Given the description of an element on the screen output the (x, y) to click on. 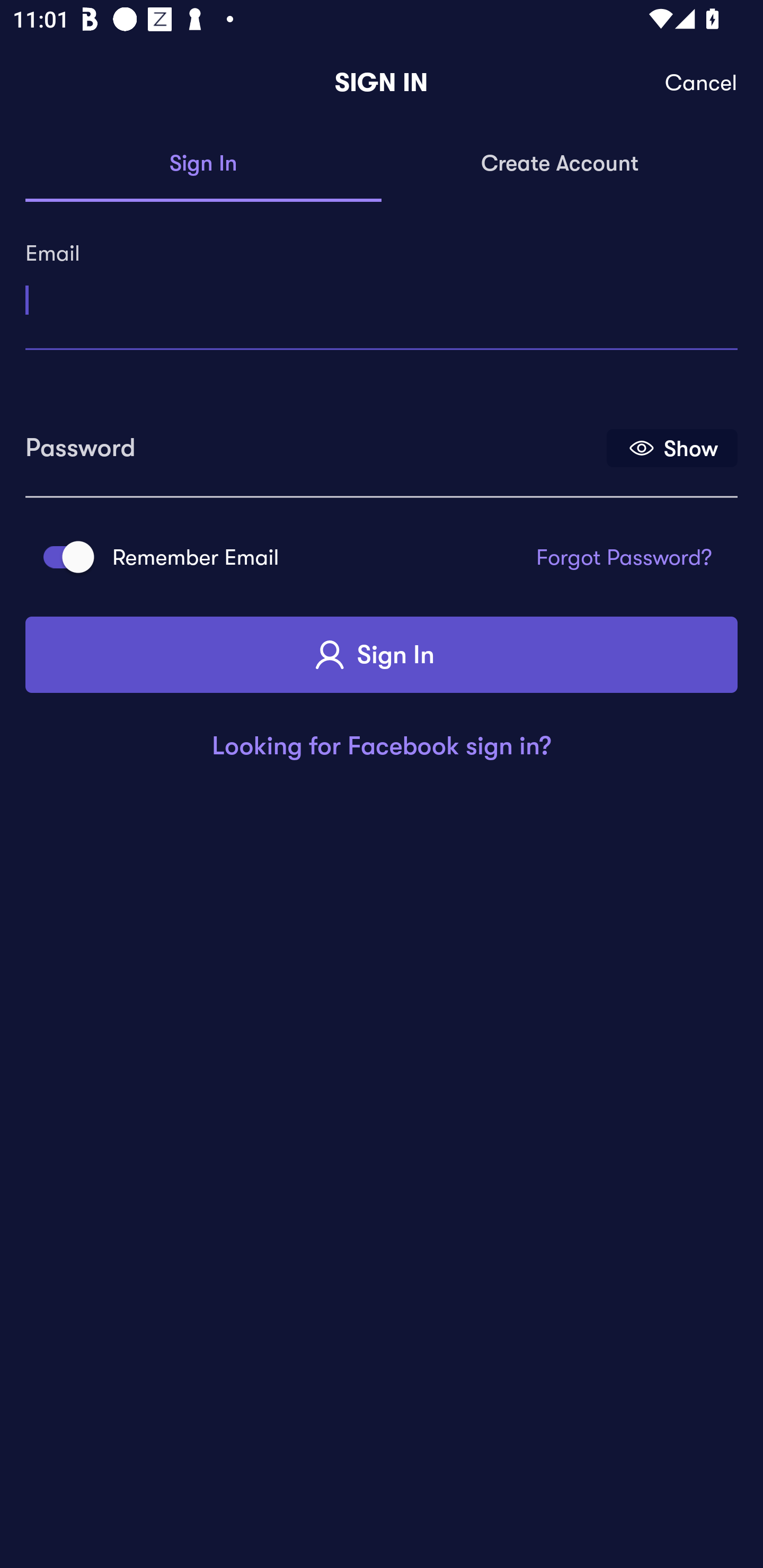
Cancel (701, 82)
Sign In (203, 164)
Create Account (559, 164)
Email (381, 293)
Password (314, 441)
Show Password Show (671, 447)
Remember Email (62, 557)
Sign In (381, 654)
